Given the description of an element on the screen output the (x, y) to click on. 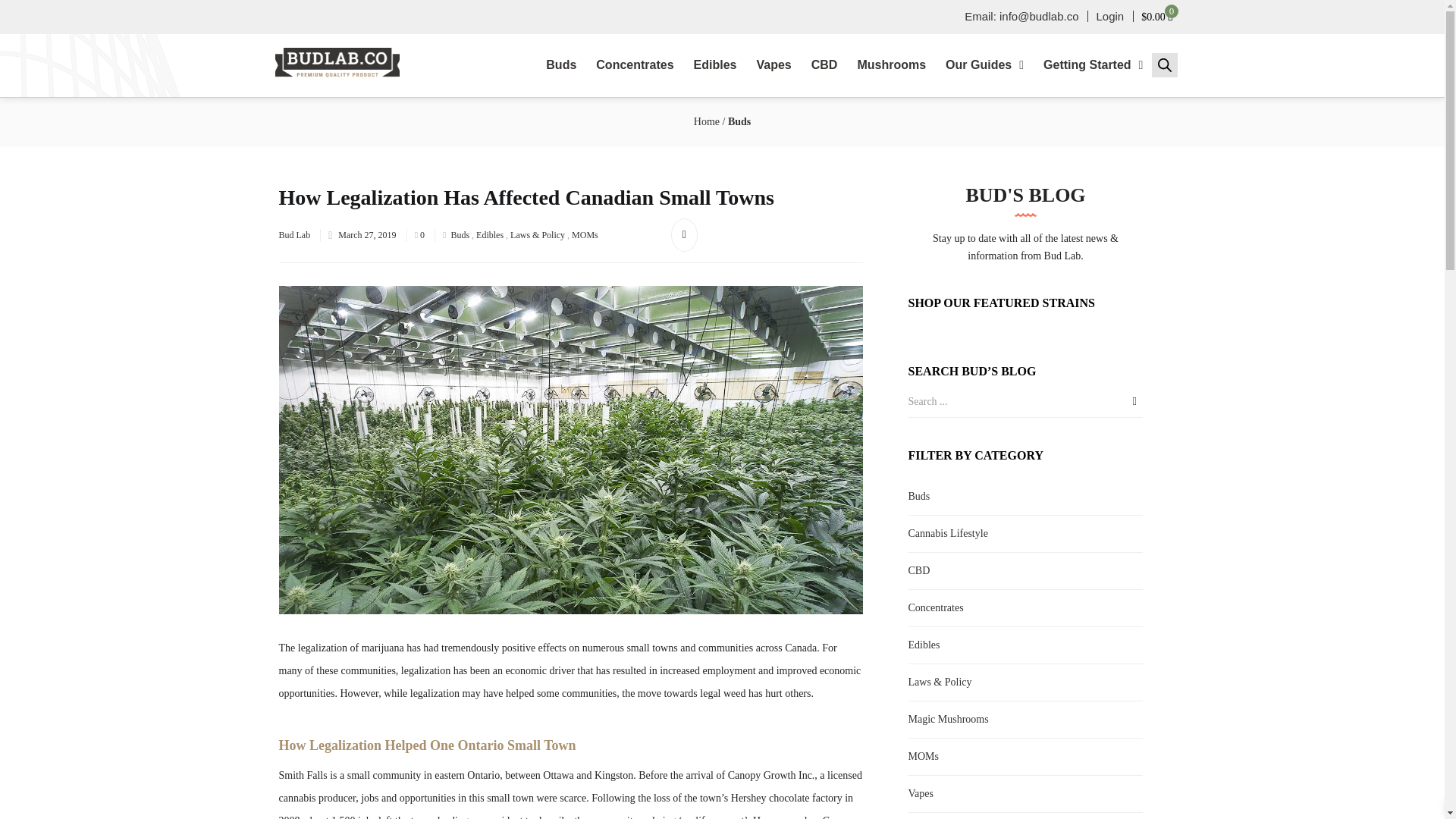
Buds (561, 65)
Vapes (773, 65)
Login (1115, 16)
Our Guides (984, 65)
Edibles (715, 65)
Customer reviews powered by Trustpilot (373, 16)
Concentrates (634, 65)
Mushrooms (891, 65)
CBD (824, 65)
Posts by Bud Lab (295, 235)
